Given the description of an element on the screen output the (x, y) to click on. 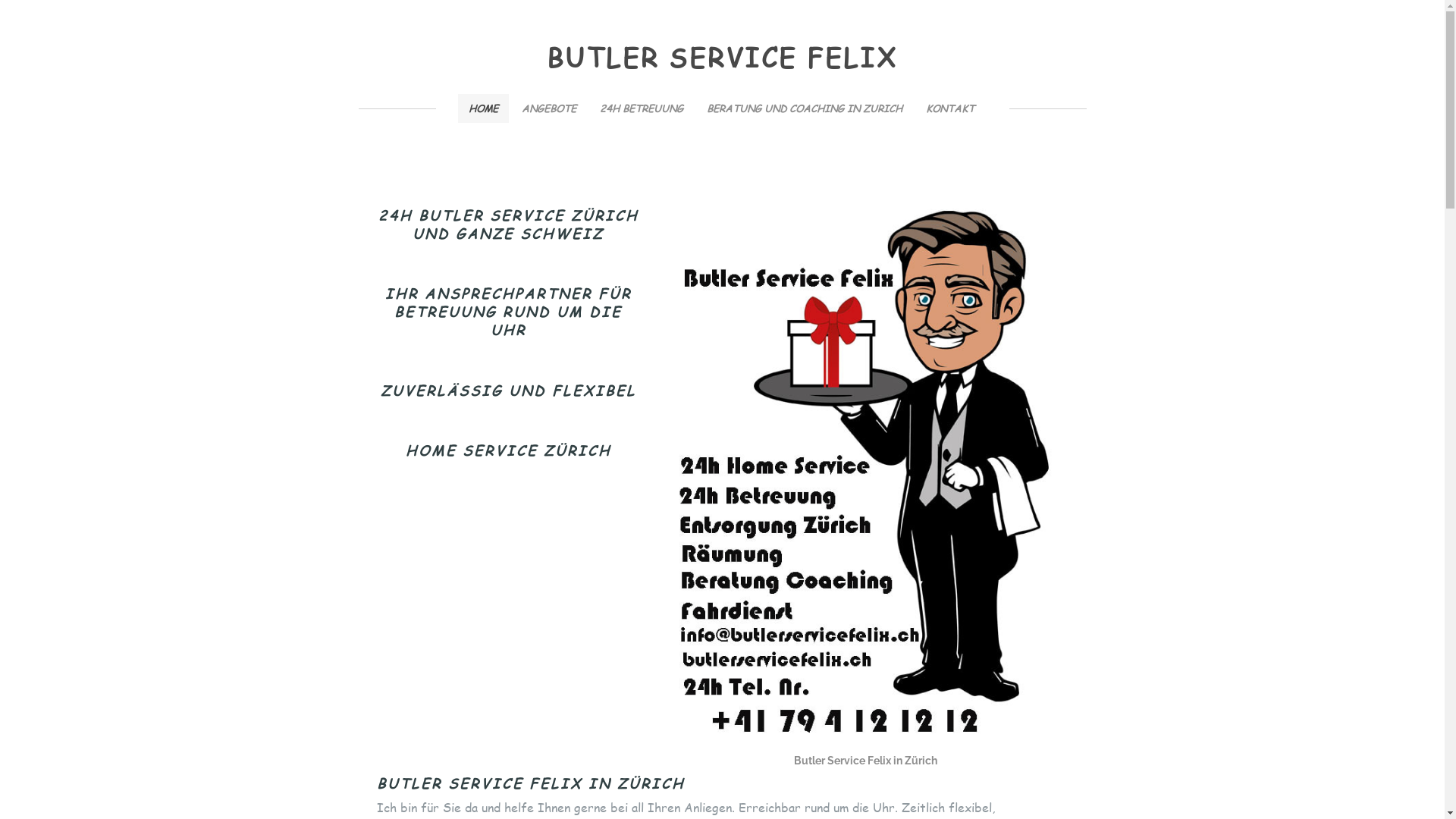
KONTAKT Element type: text (949, 108)
ANGEBOTE Element type: text (548, 108)
BERATUNG UND COACHING IN ZURICH Element type: text (804, 108)
BUTLER SERVICE FELIX Element type: text (721, 55)
24H BETREUUNG Element type: text (640, 108)
HOME Element type: text (483, 108)
